Given the description of an element on the screen output the (x, y) to click on. 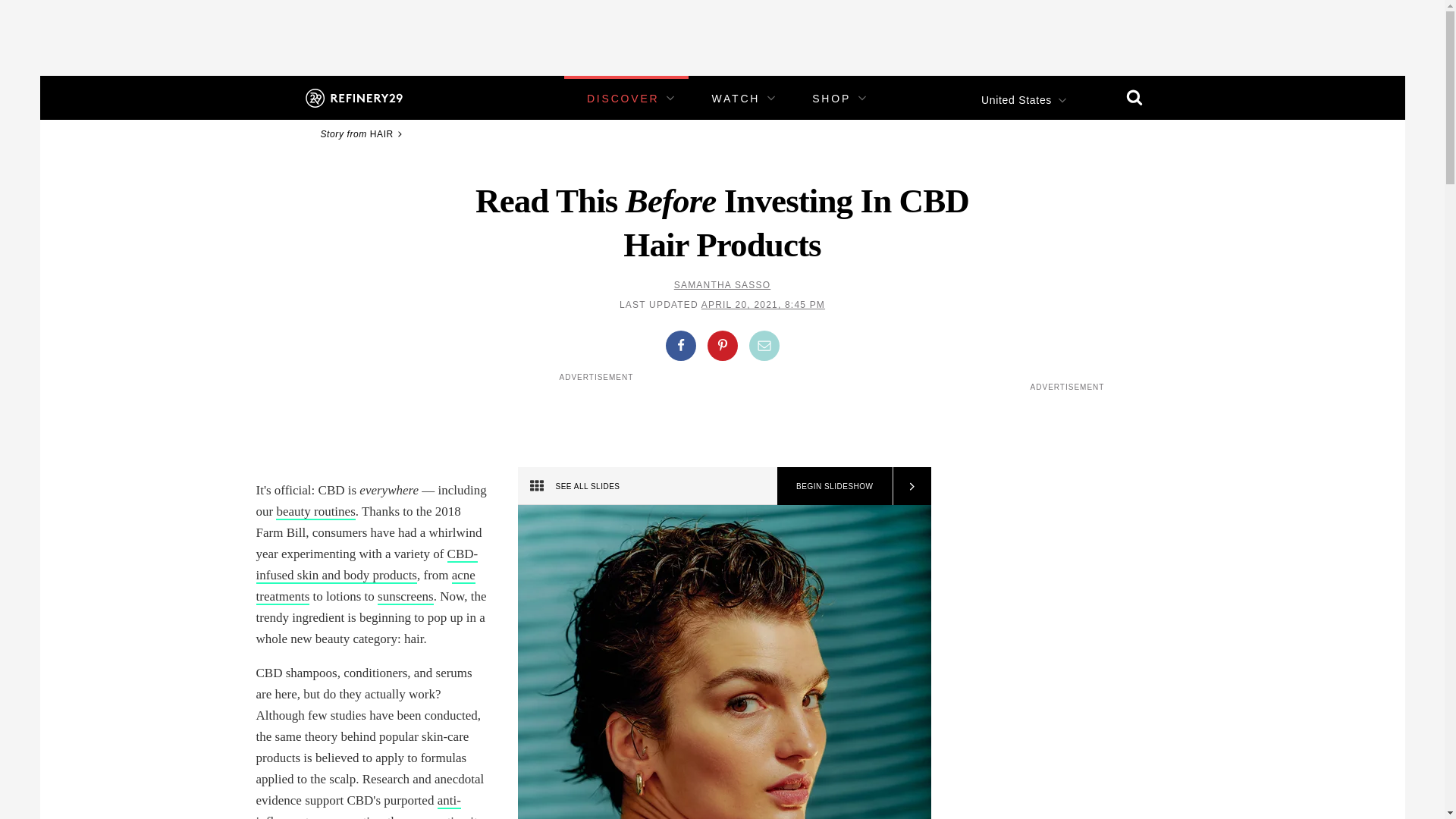
Share on Pinterest (721, 345)
Next Slide (910, 485)
WATCH (735, 98)
BEGIN SLIDESHOW (834, 485)
Share on Facebook (680, 345)
Refinery29 (352, 97)
SHOP (831, 98)
acne treatments (366, 586)
DISCOVER (622, 98)
sunscreens (405, 596)
CBD-infused skin and body products (367, 565)
anti-inflammatory properties (358, 806)
Story from HAIR (363, 133)
Share by Email (763, 345)
Begin Slideshow (834, 485)
